Given the description of an element on the screen output the (x, y) to click on. 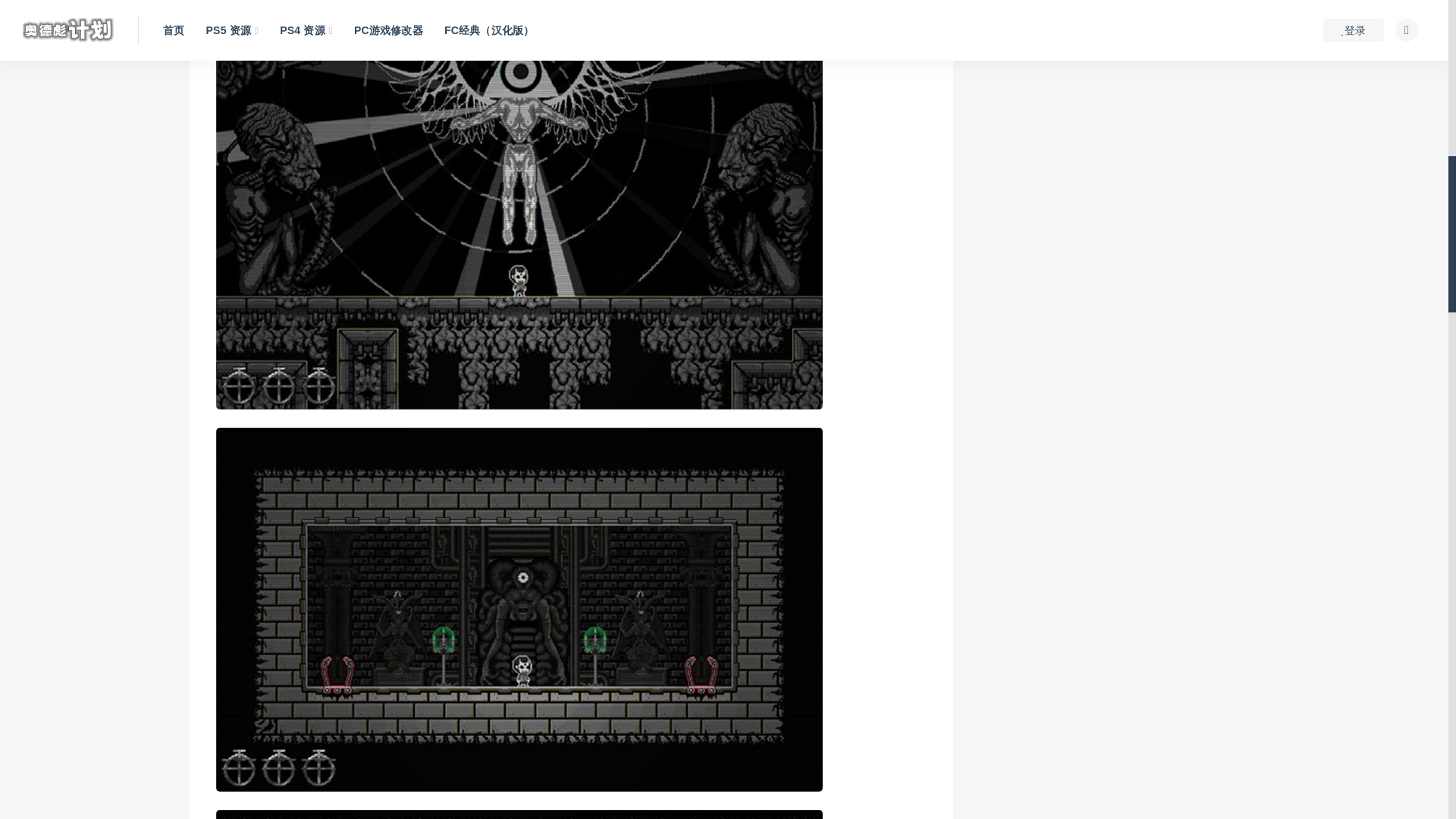
1702485201-69734d6175b3286.jpg (518, 814)
